Given the description of an element on the screen output the (x, y) to click on. 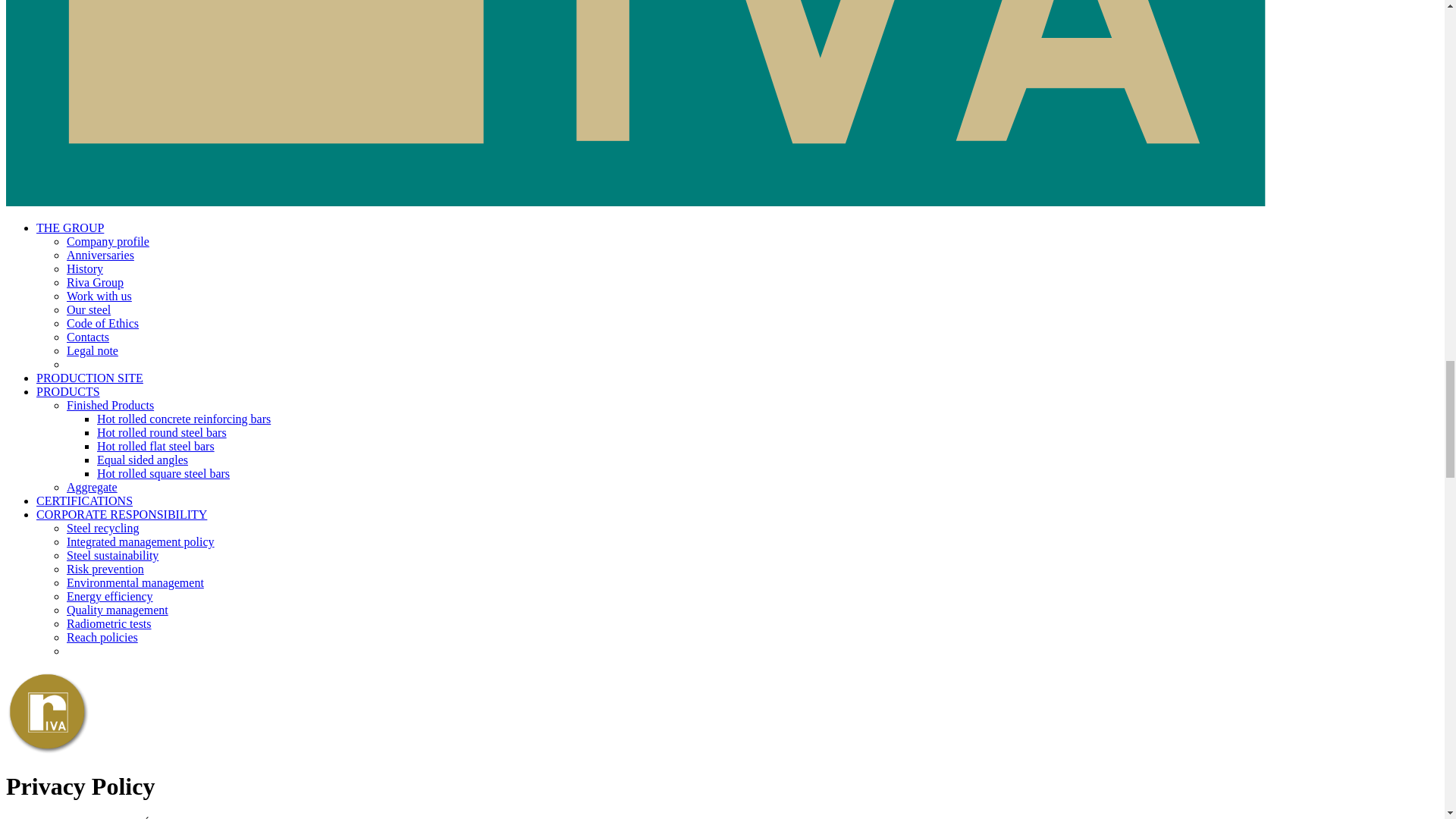
Riva Group (94, 282)
Company profile (107, 241)
CORPORATE RESPONSIBILITY (121, 513)
Hot rolled round steel bars (162, 431)
Integrated management policy (140, 541)
Legal note (91, 350)
Hot rolled square steel bars (163, 472)
Contacts (87, 336)
PRODUCTION SITE (89, 377)
Aggregate (91, 486)
Our steel (88, 309)
Work with us (99, 295)
Code of Ethics (102, 323)
THE GROUP (69, 227)
History (84, 268)
